Given the description of an element on the screen output the (x, y) to click on. 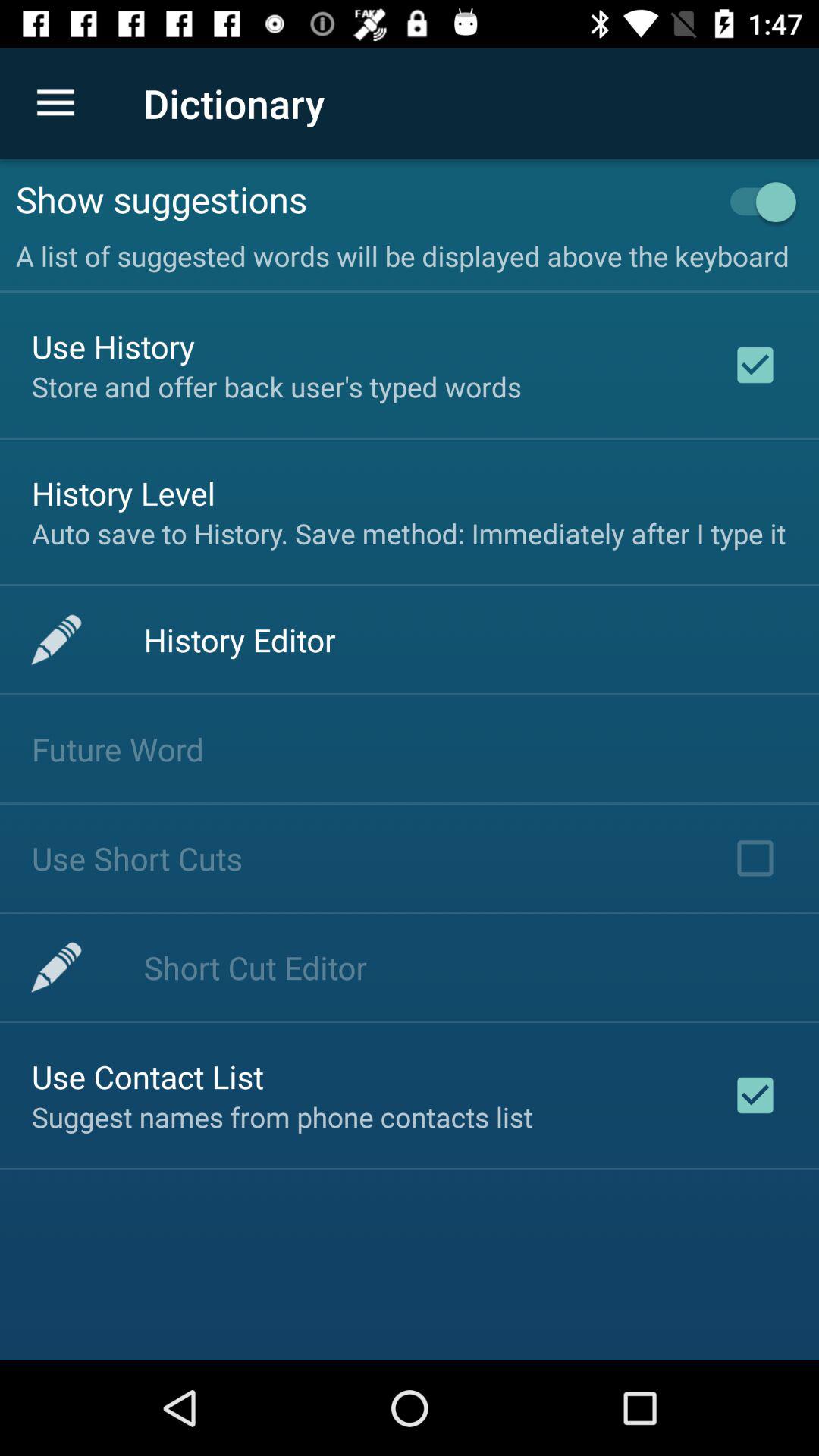
select the item to the right of show suggestions icon (755, 202)
